Given the description of an element on the screen output the (x, y) to click on. 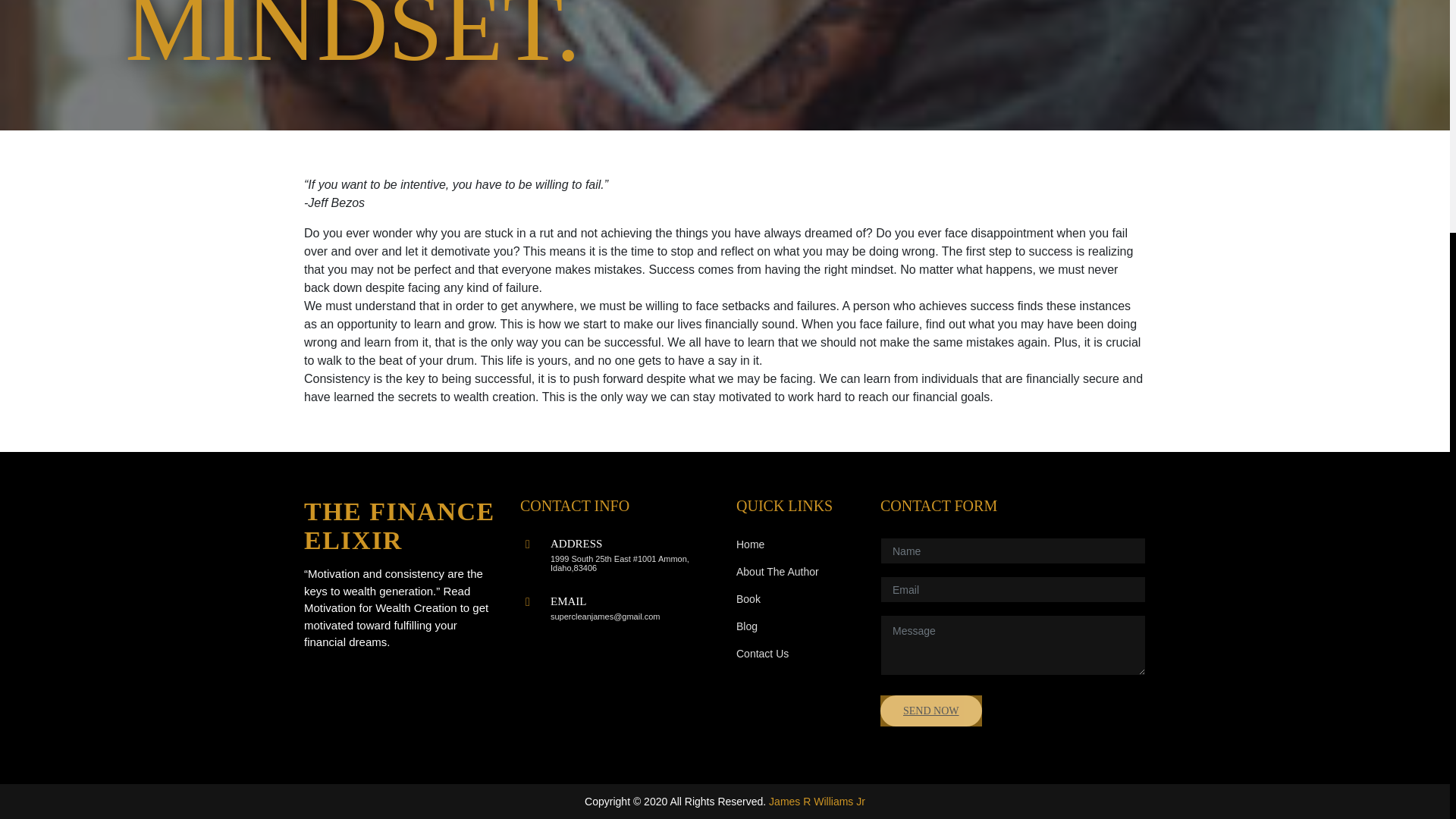
Home (750, 545)
About The Author (777, 572)
Contact Us (762, 654)
Book (748, 599)
Blog (746, 626)
Contact Us (762, 654)
Book (748, 599)
About The Author (777, 572)
Send Now (930, 710)
Blog (746, 626)
